Given the description of an element on the screen output the (x, y) to click on. 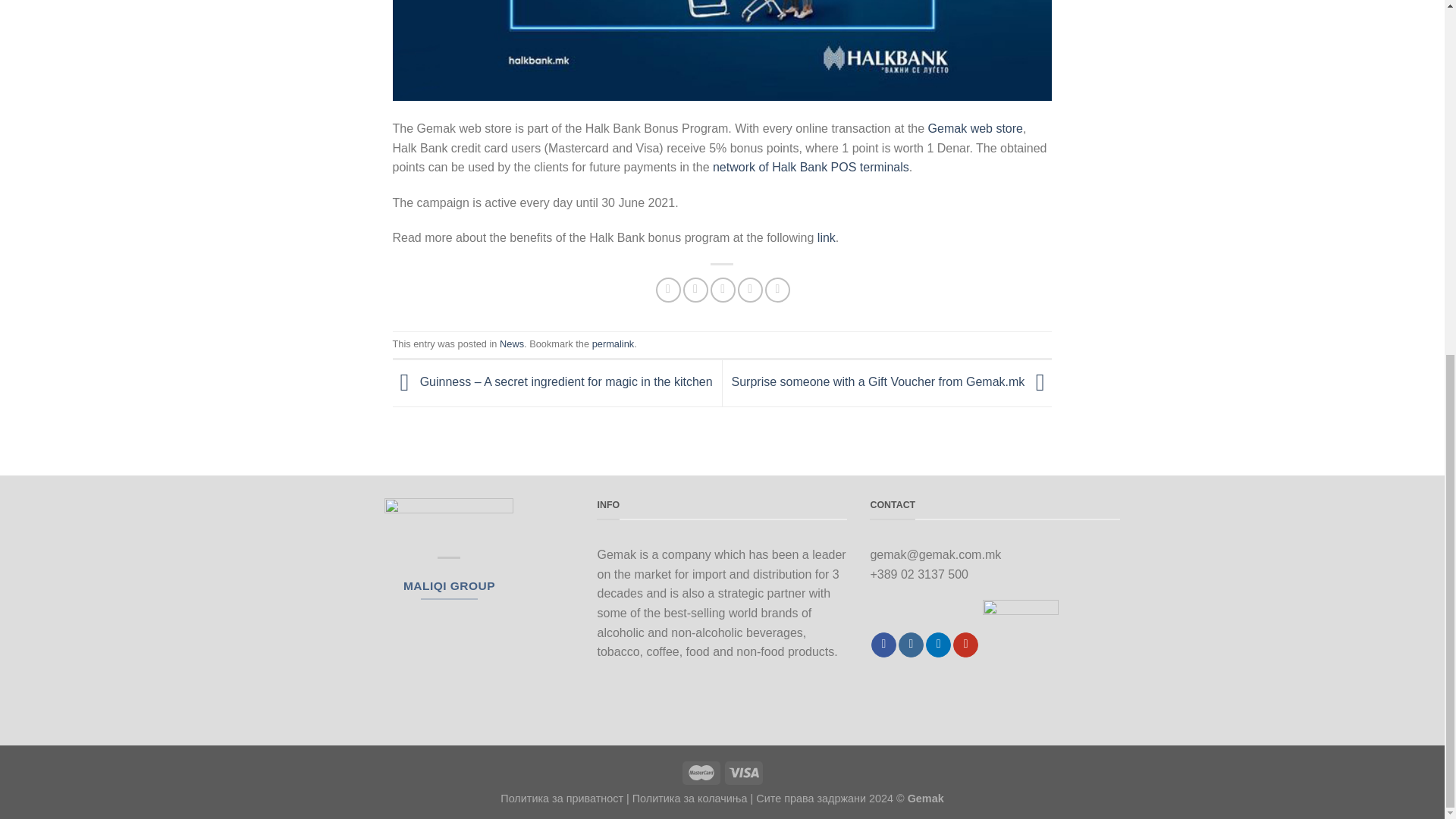
network of Halk Bank POS terminals (810, 166)
Follow on YouTube (965, 645)
Surprise someone with a Gift Voucher from Gemak.mk (892, 382)
Gemak web store (975, 128)
link (825, 237)
Email to a Friend (722, 289)
MALIQI GROUP (449, 585)
Pin on Pinterest (750, 289)
Share on Facebook (668, 289)
News (511, 343)
permalink (612, 343)
Share on LinkedIn (777, 289)
Follow on LinkedIn (938, 645)
Follow on Facebook (883, 645)
